Given the description of an element on the screen output the (x, y) to click on. 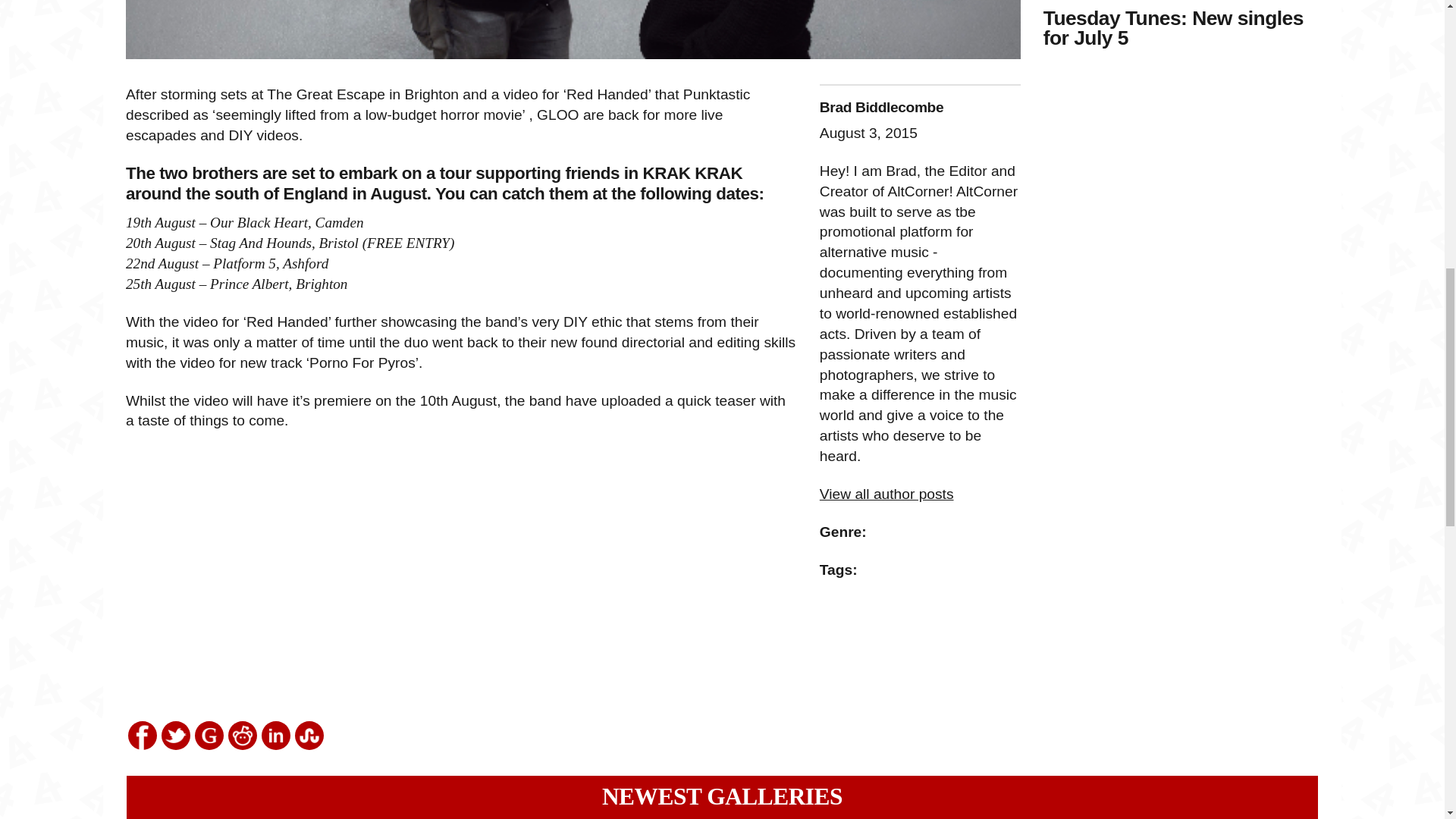
View all author posts (886, 494)
Search (94, 4)
View all author posts (886, 494)
